Given the description of an element on the screen output the (x, y) to click on. 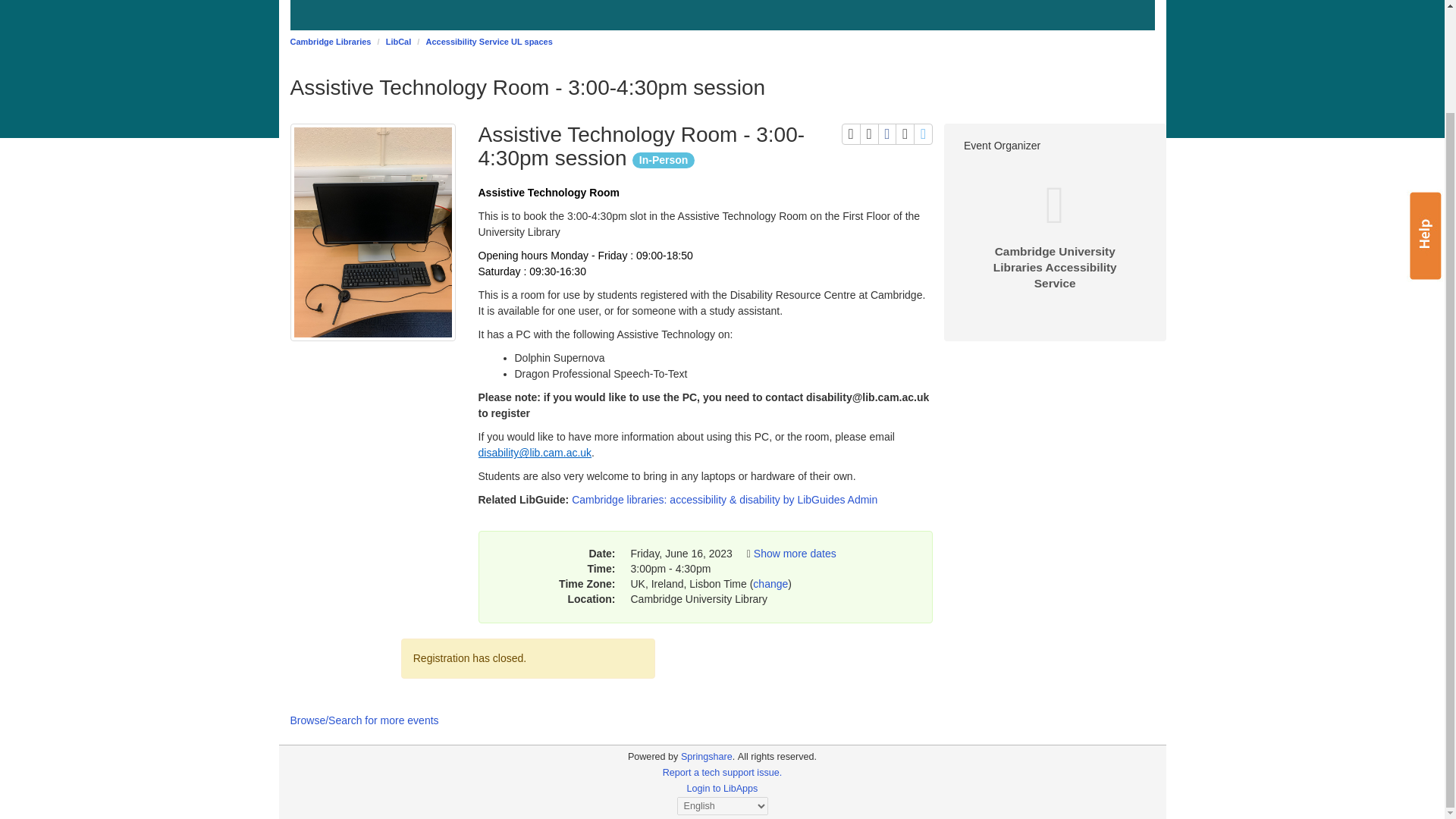
change (769, 583)
Login to LibApps (904, 133)
libcal-eu-1 (886, 133)
Add to a Calendar using iCal (722, 787)
Cambridge Libraries (652, 756)
Accessibility Service UL spaces (869, 133)
Report a tech support issue. (330, 40)
LibCal (488, 40)
Springshare (923, 133)
Print the page (722, 772)
Show more dates (398, 40)
